Given the description of an element on the screen output the (x, y) to click on. 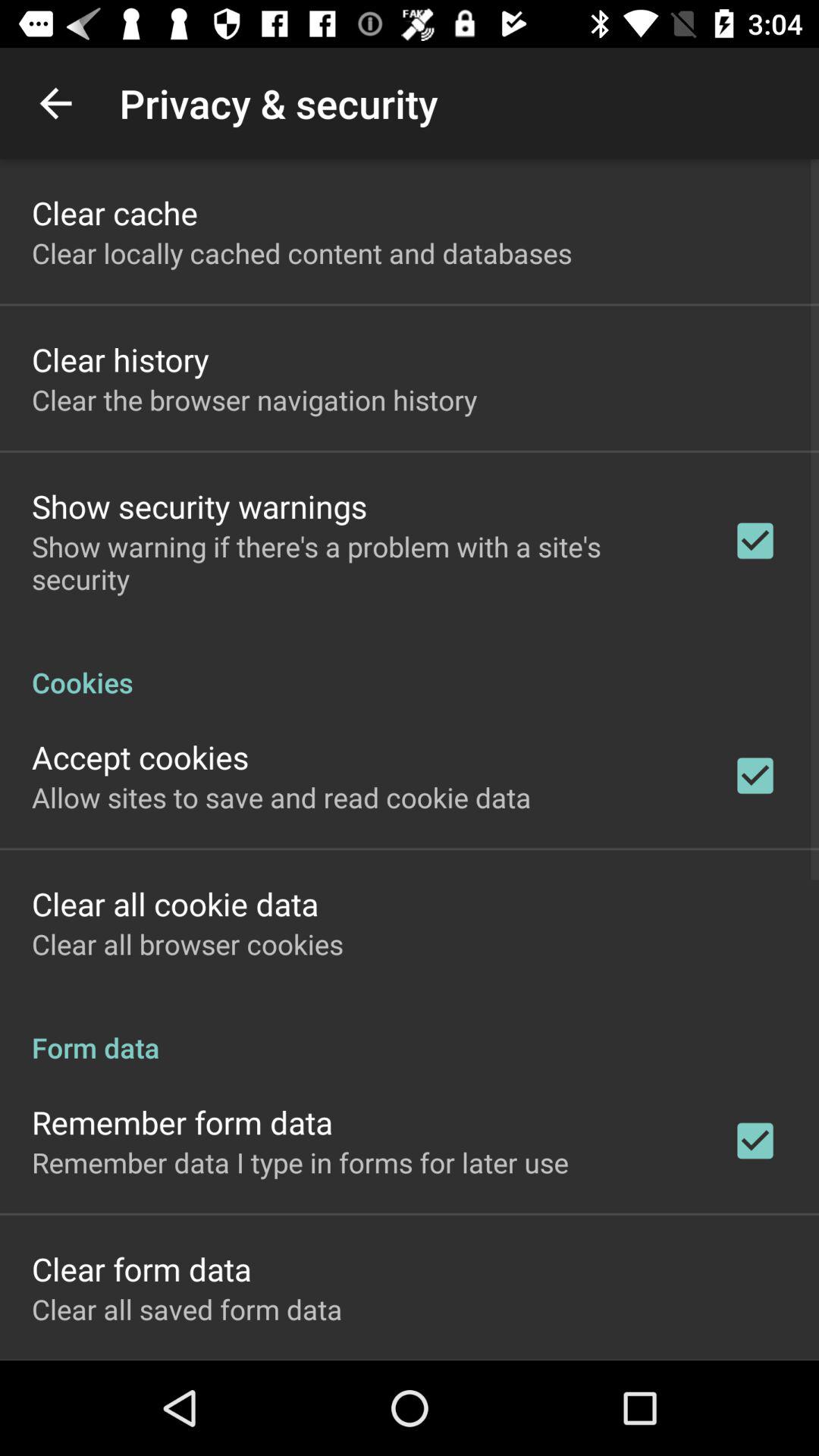
tap item above allow sites to app (140, 756)
